Given the description of an element on the screen output the (x, y) to click on. 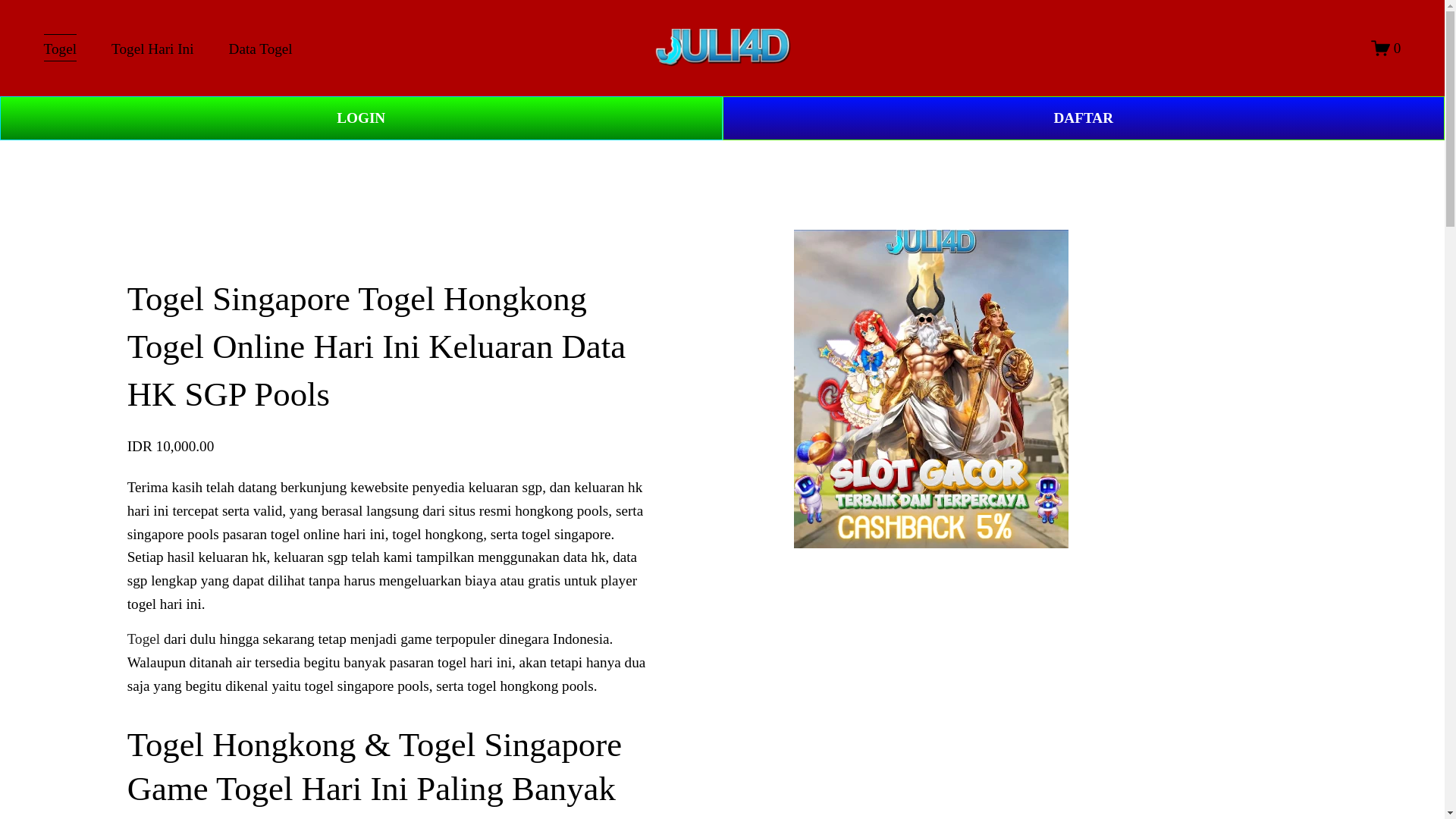
Togel (144, 638)
Togel (60, 49)
Togel Hari Ini (152, 49)
LOGIN (361, 118)
Data Togel (260, 49)
0 (1385, 47)
